Given the description of an element on the screen output the (x, y) to click on. 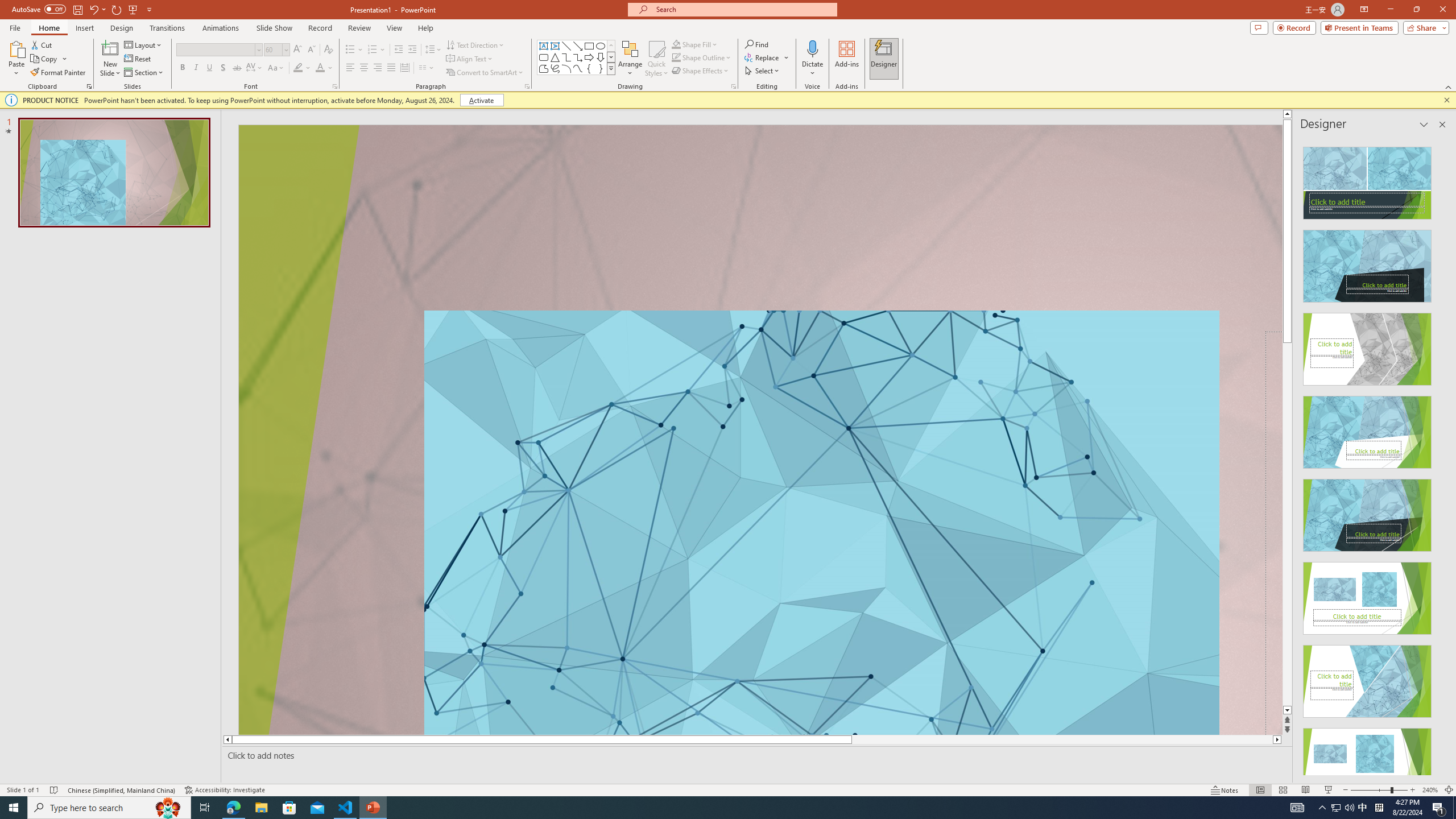
Zoom 240% (1430, 790)
